Given the description of an element on the screen output the (x, y) to click on. 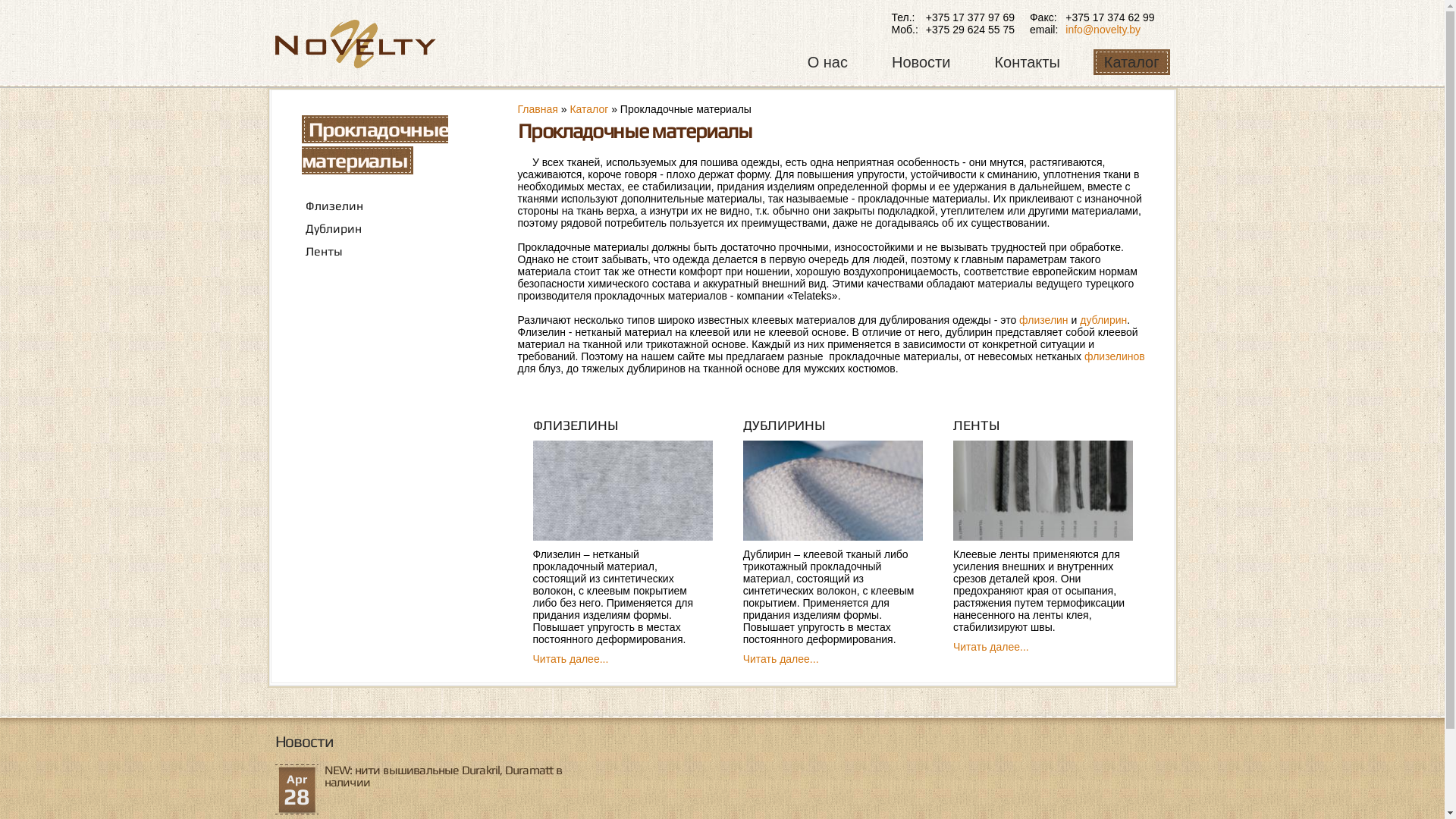
Skip to main content Element type: text (691, 1)
info@novelty.by Element type: text (1102, 29)
